Given the description of an element on the screen output the (x, y) to click on. 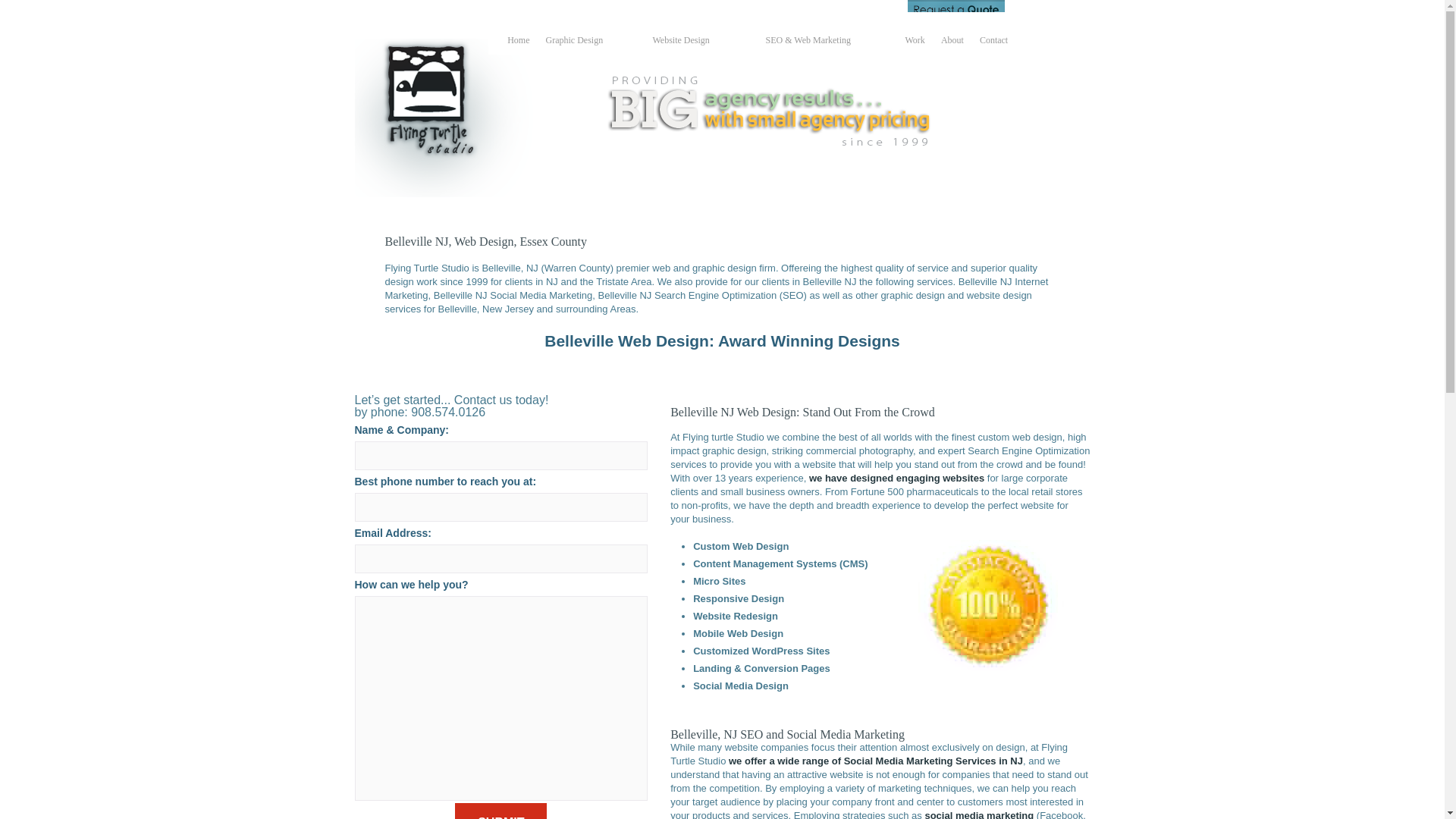
SUBMIT (500, 811)
Contact (993, 41)
About (952, 41)
Website Design (695, 41)
SUBMIT (500, 811)
About Flying Turtle Studio (952, 41)
Graphic Design (585, 41)
Home (518, 41)
Work (915, 41)
